Given the description of an element on the screen output the (x, y) to click on. 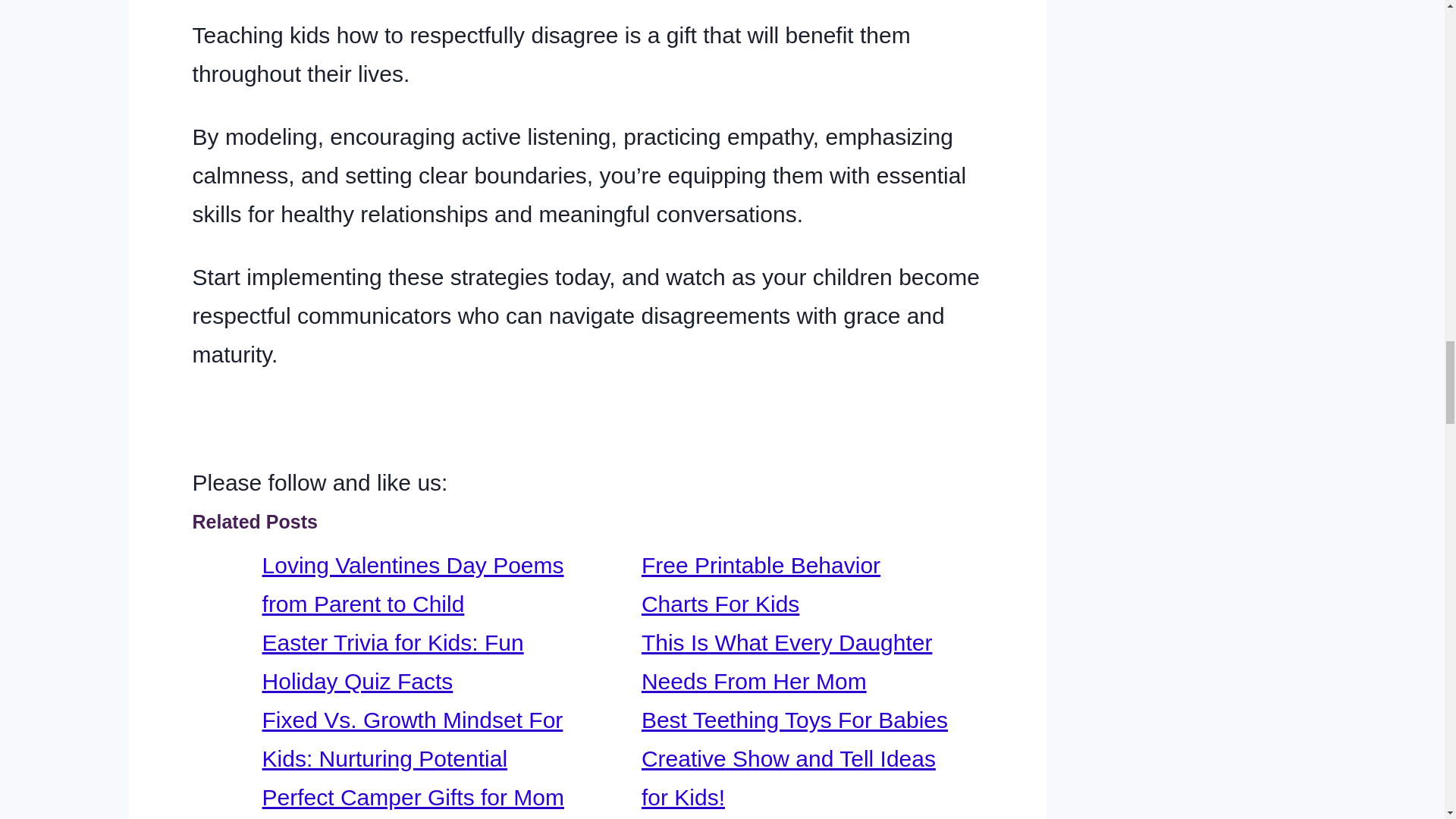
Loving Valentines Day Poems from Parent to Child (413, 584)
Creative Show and Tell Ideas for Kids! (789, 777)
Fixed Vs. Growth Mindset For Kids: Nurturing Potential (412, 739)
Best Teething Toys For Babies (794, 719)
Easter Trivia for Kids: Fun Holiday Quiz Facts (393, 661)
Free Printable Behavior Charts For Kids (761, 584)
This Is What Every Daughter Needs From Her Mom (786, 661)
